Given the description of an element on the screen output the (x, y) to click on. 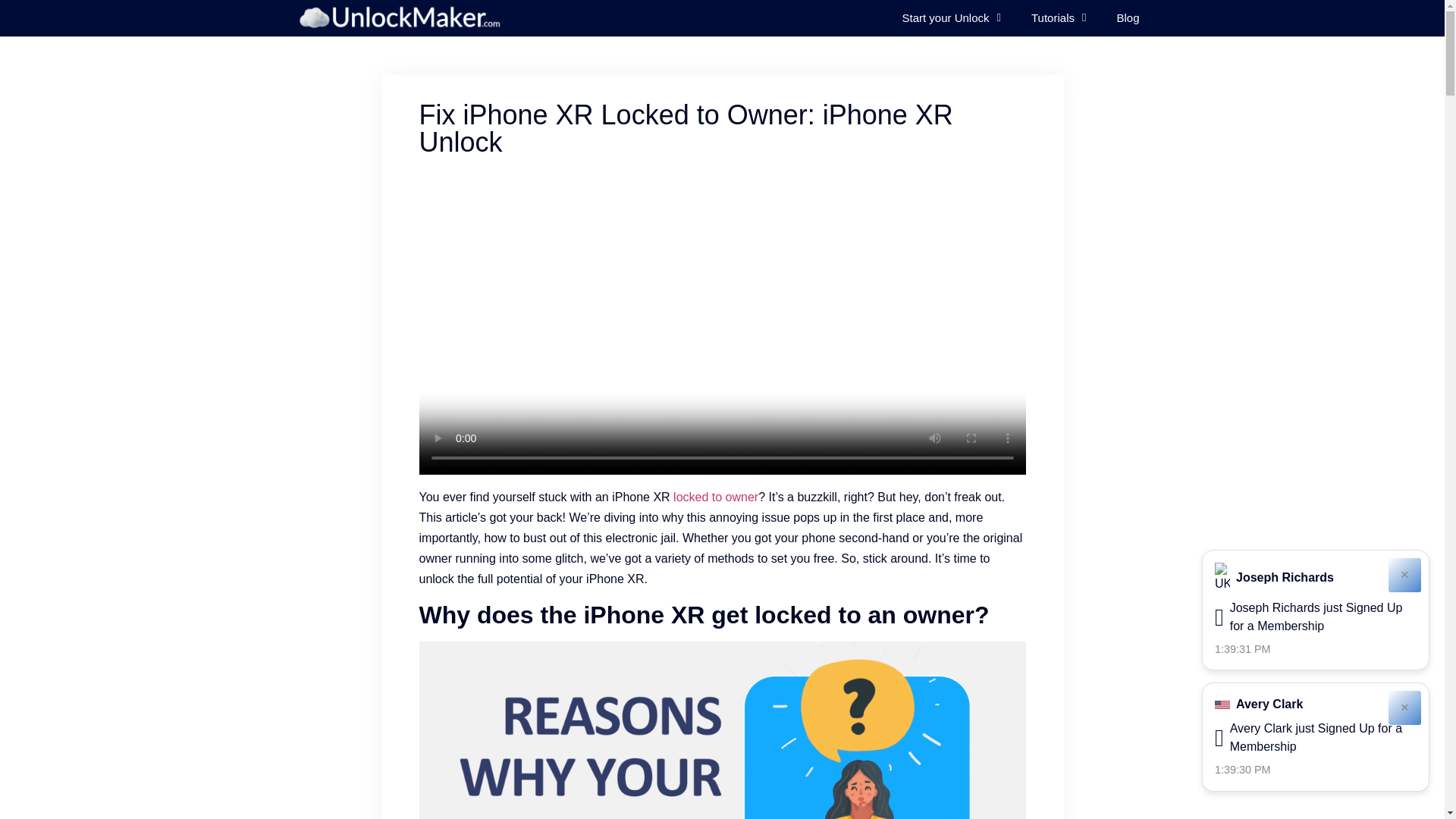
Blog (1127, 18)
Fix iPhone XR Locked to Owner: iPhone XR Unlock 1 (722, 730)
Start your Unlock (951, 18)
Tutorials (1058, 18)
